Given the description of an element on the screen output the (x, y) to click on. 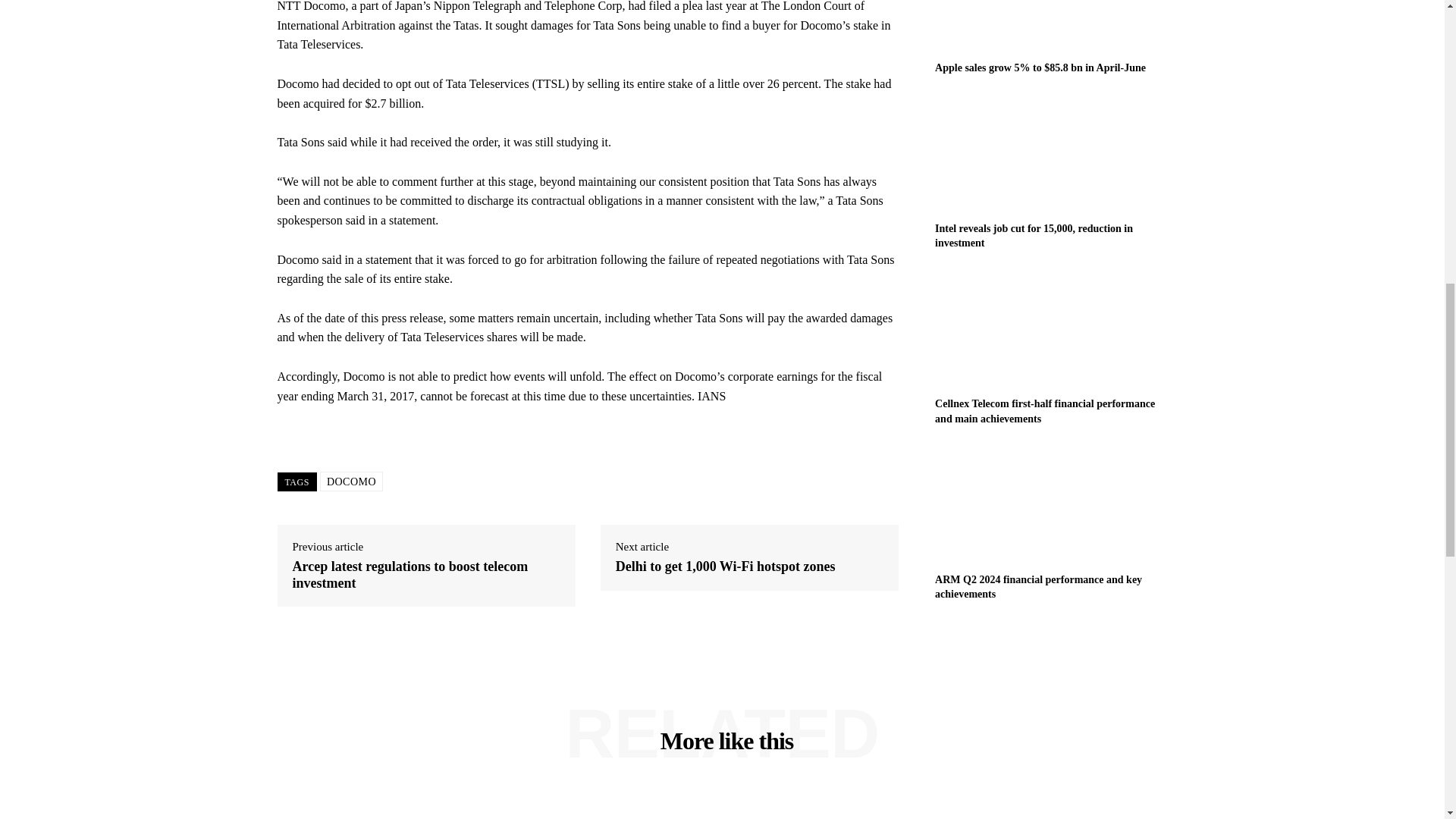
Intel reveals job cut for 15,000, reduction in investment (1033, 235)
Arcep latest regulations to boost telecom investment (426, 574)
ARM Q2 2024 financial performance and key achievements (1037, 587)
Intel reveals job cut for 15,000, reduction in investment (1050, 153)
Delhi to get 1,000 Wi-Fi hotspot zones (725, 566)
DOCOMO (351, 481)
ARM Q2 2024 financial performance and key achievements (1037, 587)
ARM Q2 2024 financial performance and key achievements (1050, 503)
Intel reveals job cut for 15,000, reduction in investment (1033, 235)
